Given the description of an element on the screen output the (x, y) to click on. 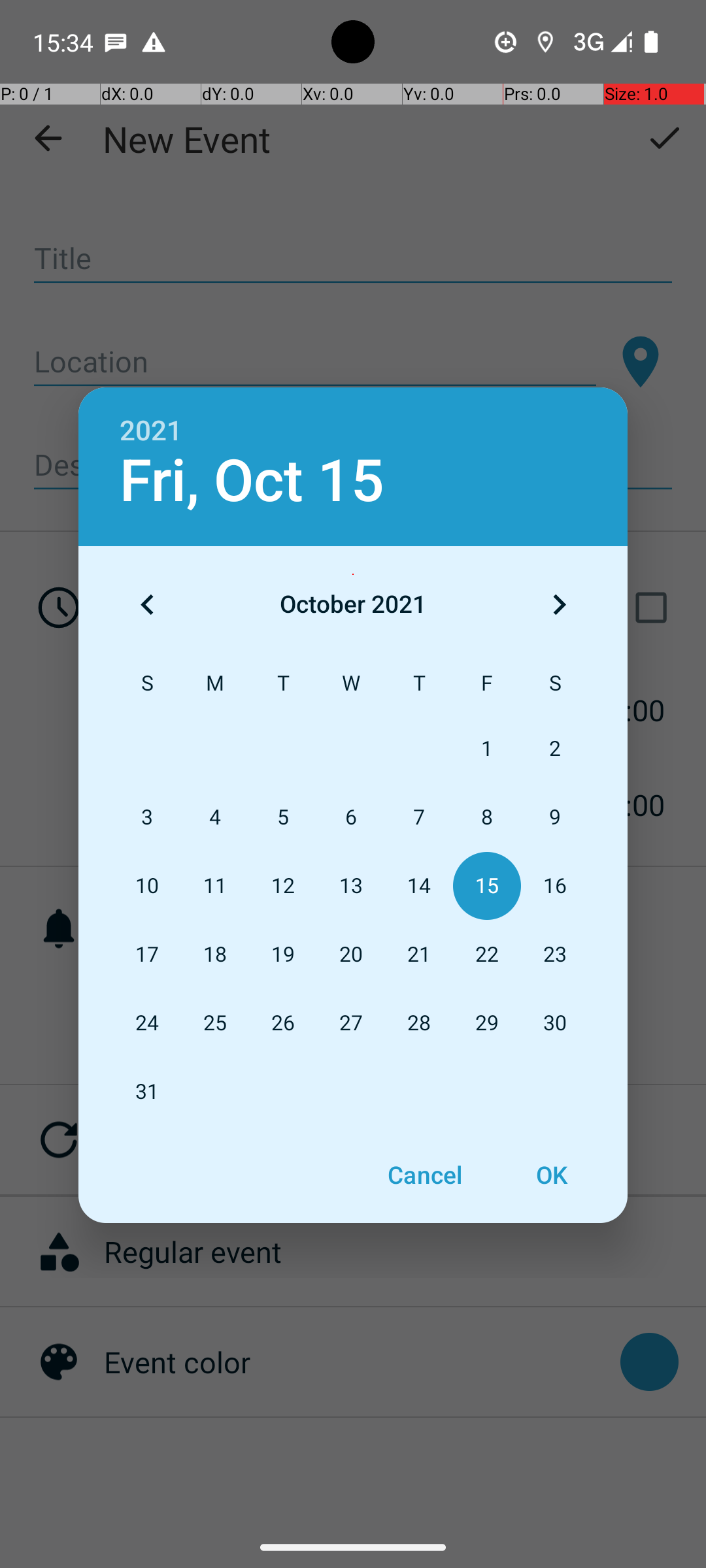
2021 Element type: android.widget.TextView (150, 430)
Fri, Oct 15 Element type: android.widget.TextView (251, 480)
